Given the description of an element on the screen output the (x, y) to click on. 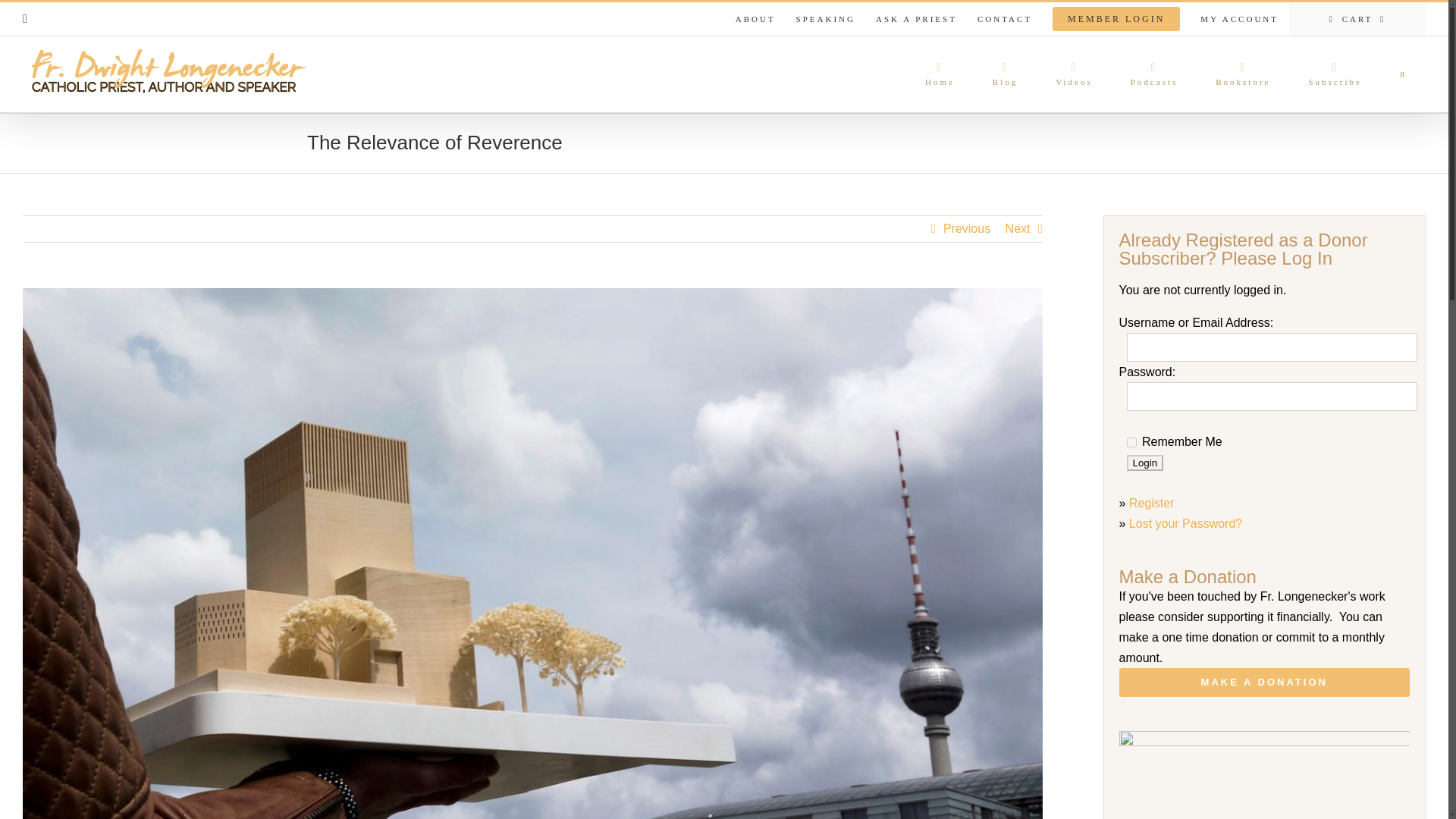
ABOUT (755, 19)
forever (1131, 442)
CONTACT (1005, 19)
ASK A PRIEST (916, 19)
MEMBER LOGIN (1115, 19)
MY ACCOUNT (1239, 19)
Videos (1074, 74)
SPEAKING (825, 19)
Login (1144, 462)
Home (939, 74)
